Given the description of an element on the screen output the (x, y) to click on. 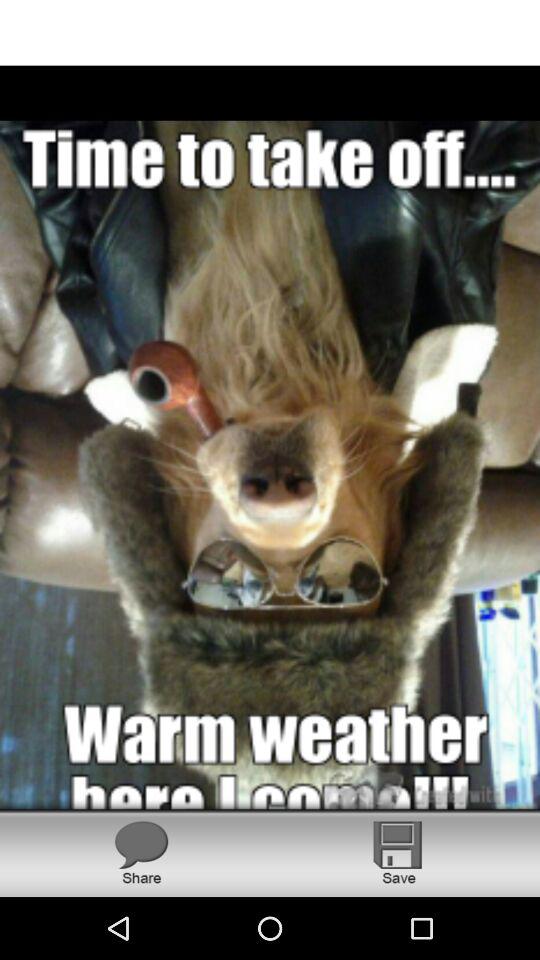
turn on item at the bottom left corner (141, 852)
